Given the description of an element on the screen output the (x, y) to click on. 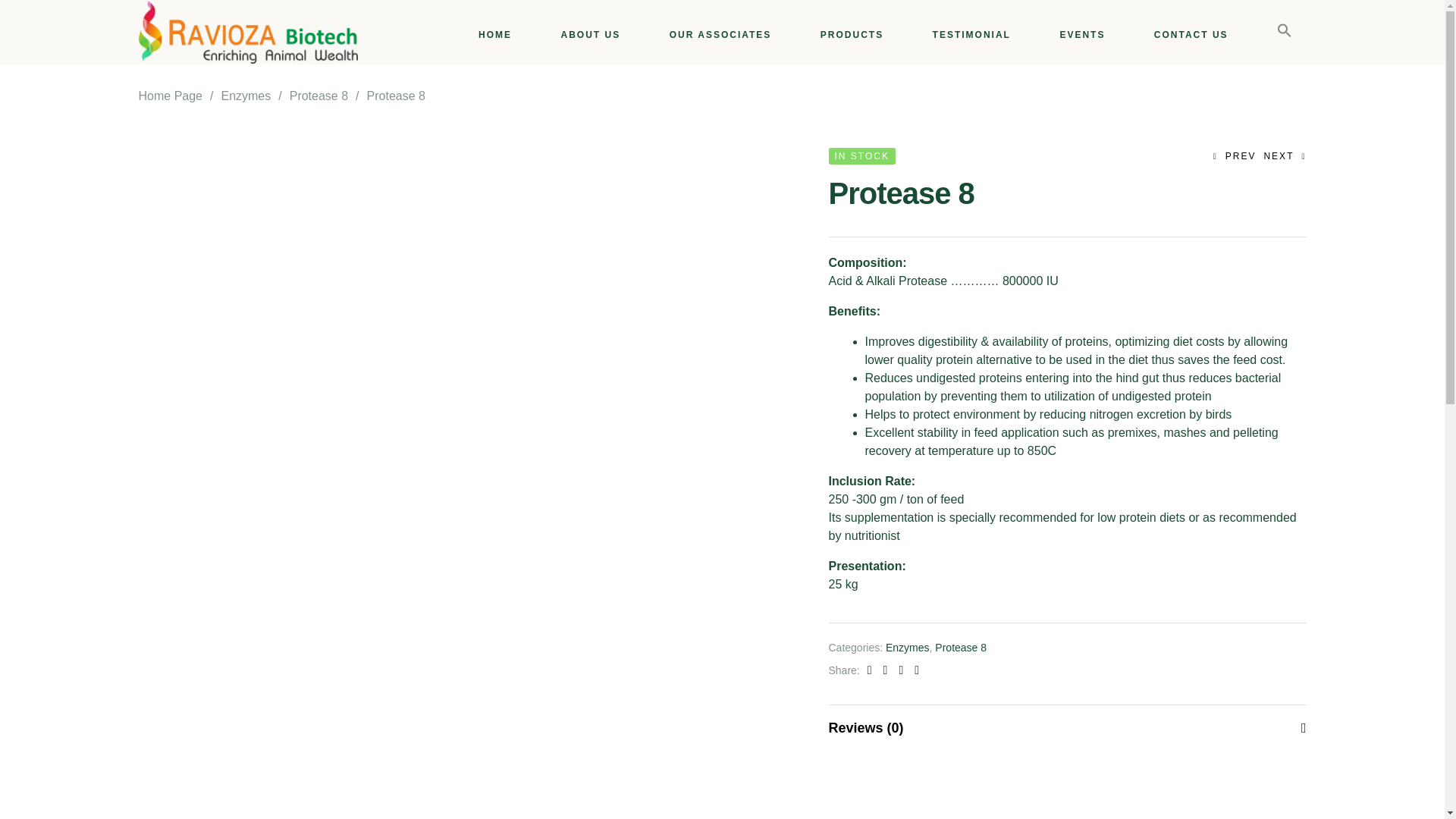
Protease 8 (960, 647)
Protease 8 (318, 95)
PREV (1234, 156)
Home Page (170, 95)
EVENTS (1081, 36)
HOME (494, 36)
CONTACT US (1190, 36)
Enzymes (907, 647)
ABOUT US (590, 36)
OUR ASSOCIATES (720, 36)
